Given the description of an element on the screen output the (x, y) to click on. 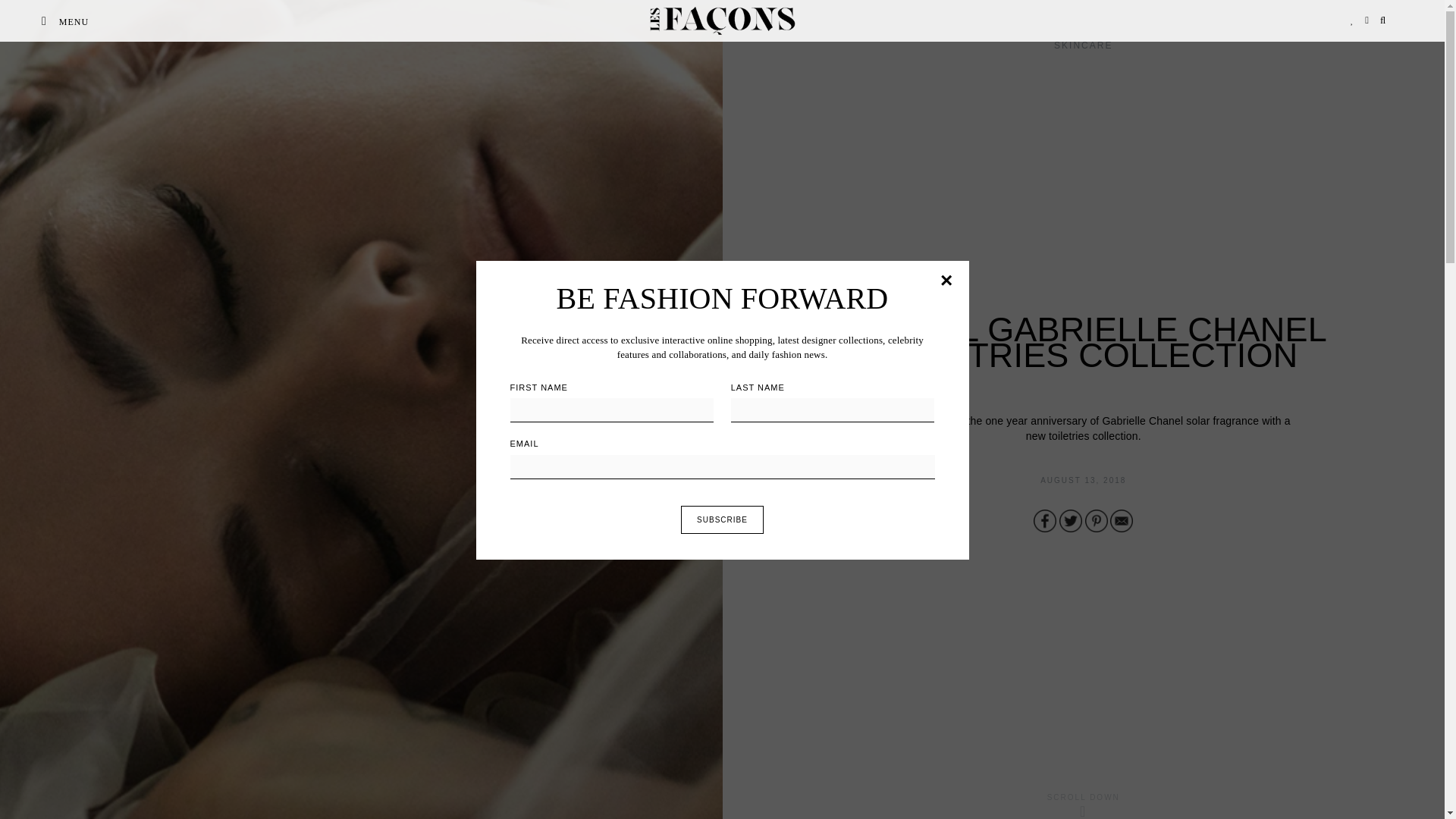
SUBSCRIBE (721, 519)
Toggle navigation (44, 21)
Share on Twitter (1070, 520)
Share on Pinterest (1096, 520)
Share on Facebook (1045, 520)
